Given the description of an element on the screen output the (x, y) to click on. 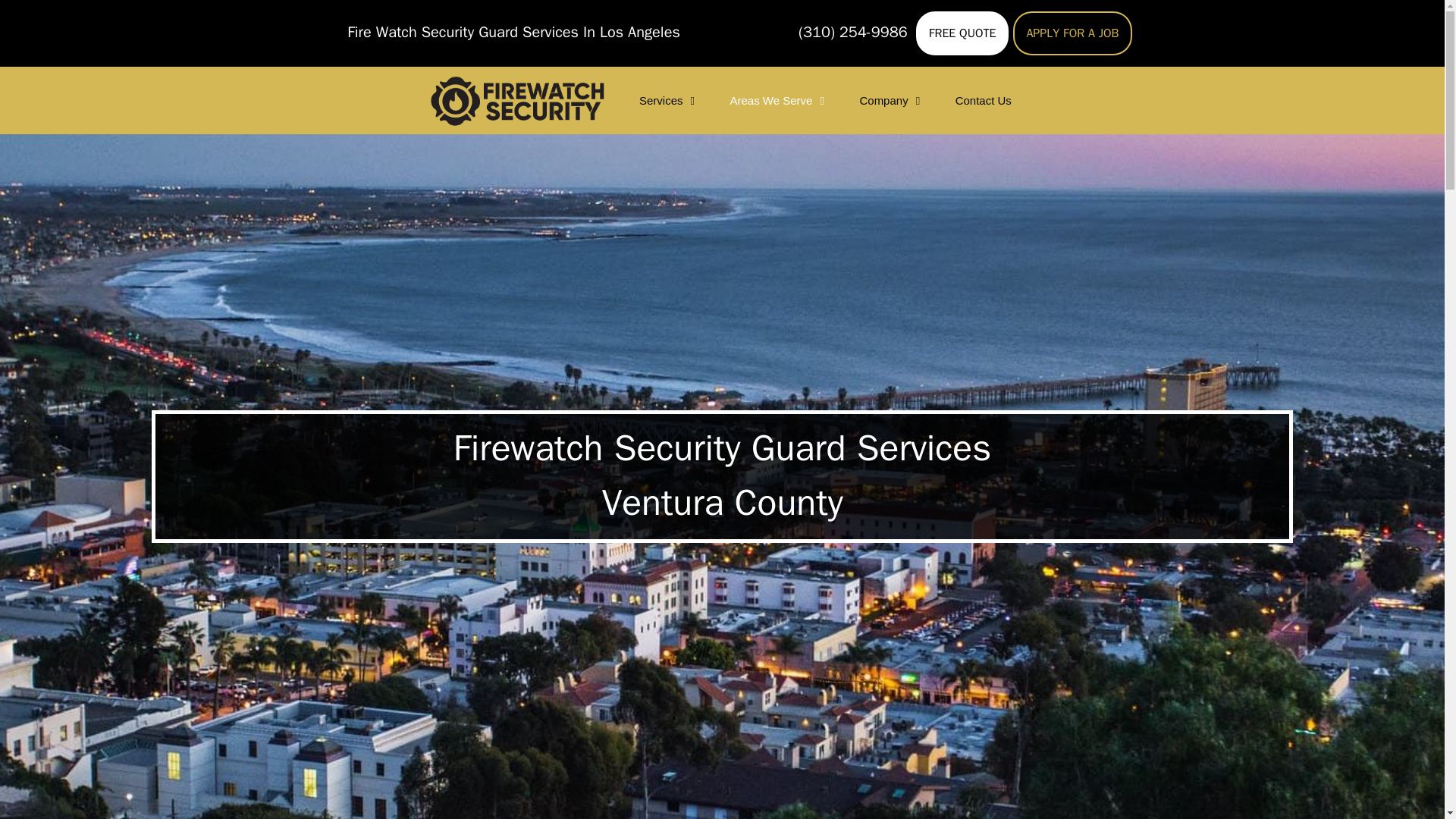
FREE QUOTE (962, 33)
APPLY FOR A JOB (1072, 33)
Services (669, 100)
Firewatch Security (516, 100)
Firewatch Security (520, 100)
